Given the description of an element on the screen output the (x, y) to click on. 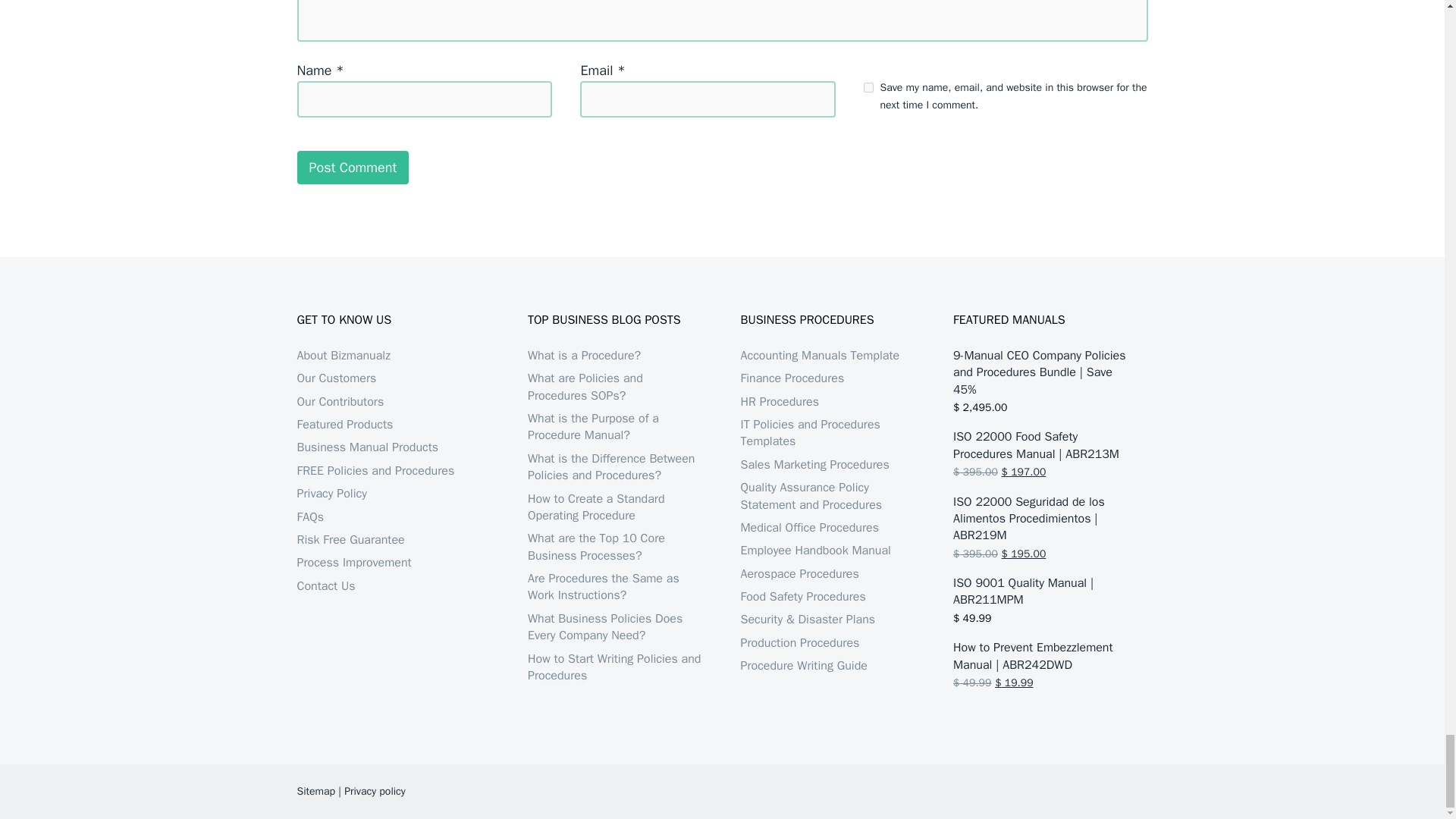
yes (868, 87)
Post Comment (353, 167)
